Given the description of an element on the screen output the (x, y) to click on. 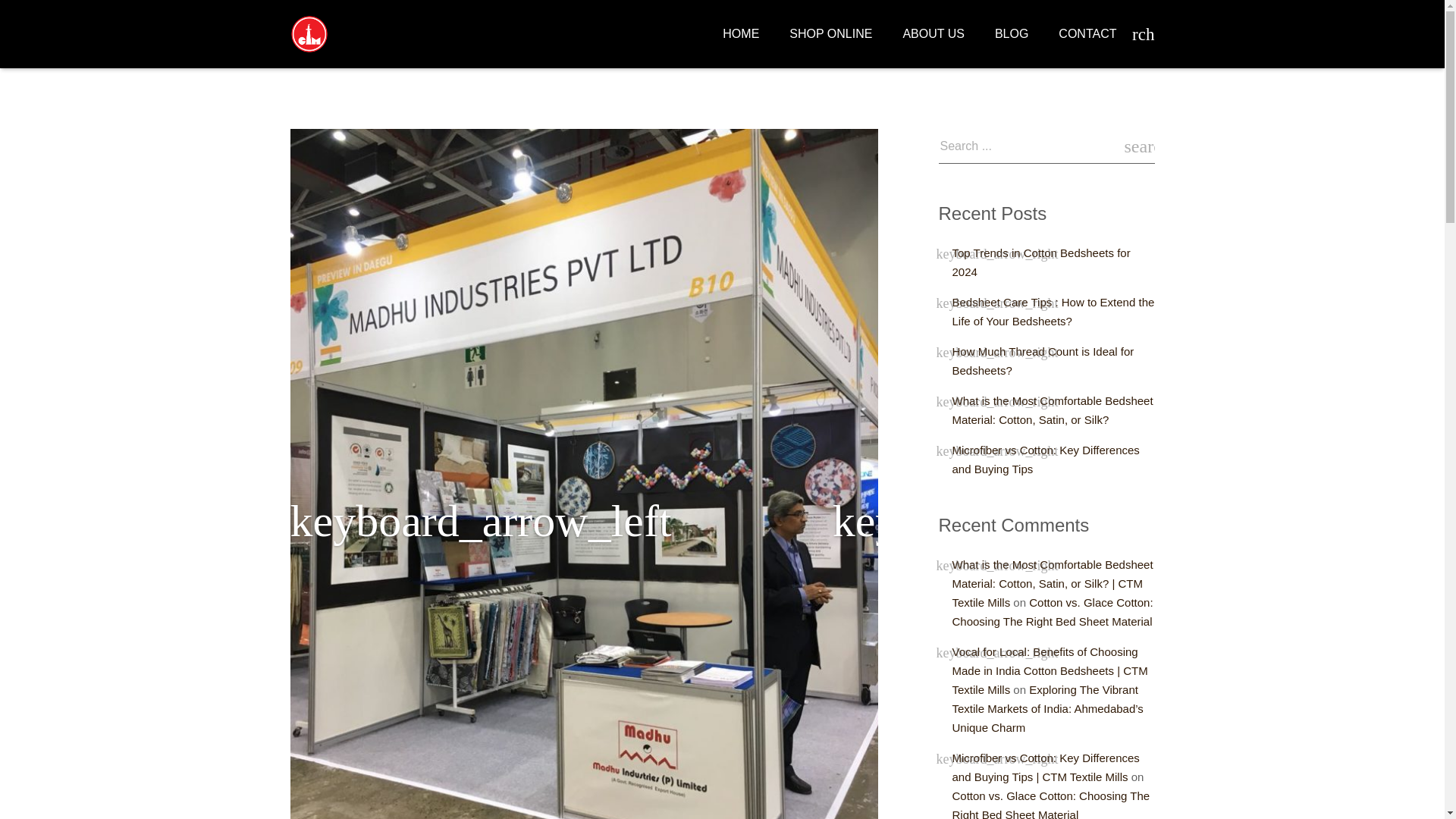
CONTACT (1087, 34)
Microfiber vs Cotton: Key Differences and Buying Tips (1046, 459)
HOME (740, 34)
Top Trends in Cotton Bedsheets for 2024 (1041, 262)
BLOG (1011, 34)
How Much Thread Count is Ideal for Bedsheets? (1043, 360)
ABOUT US (932, 34)
SHOP ONLINE (830, 34)
